Given the description of an element on the screen output the (x, y) to click on. 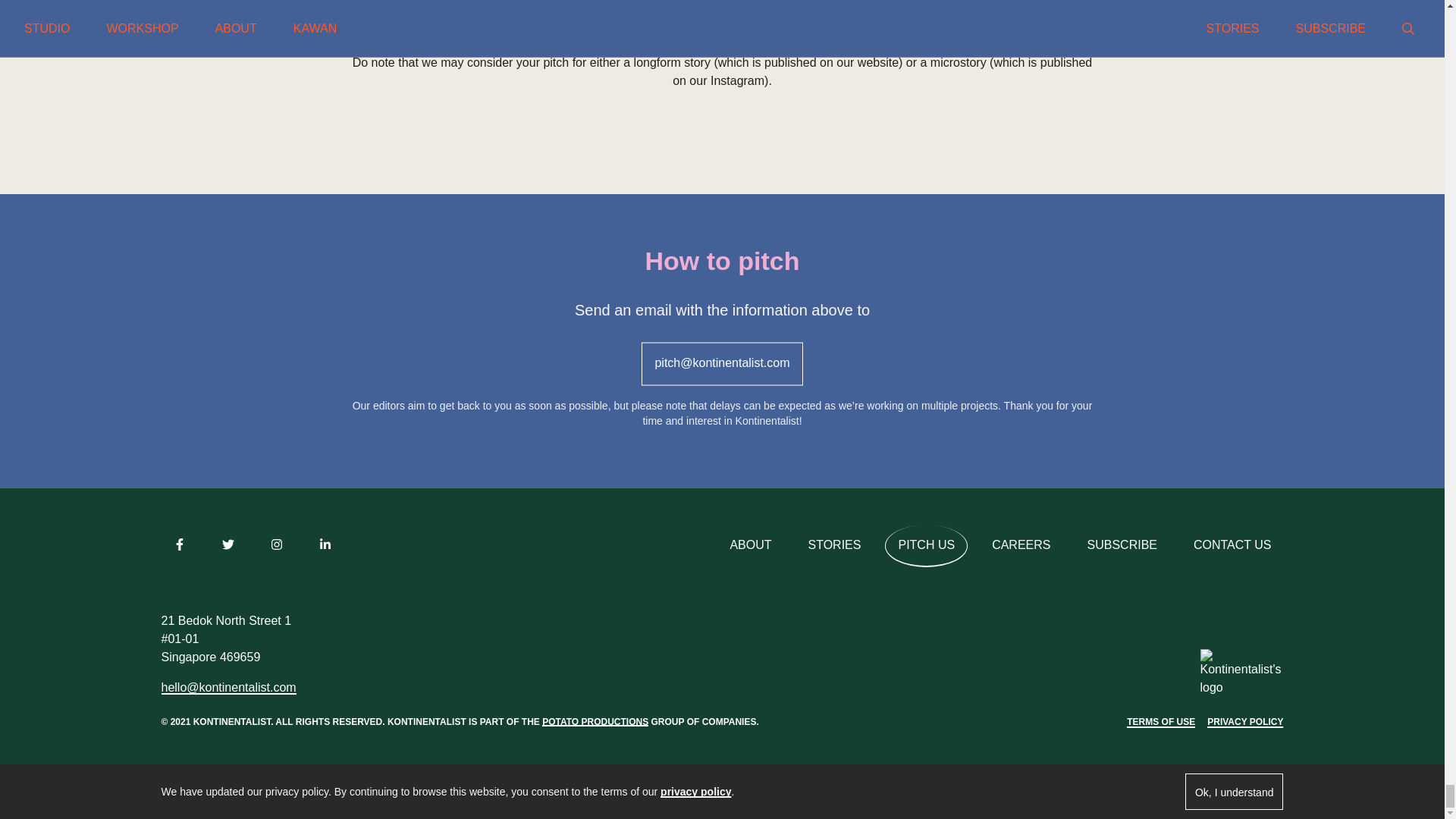
STORIES (834, 545)
TERMS OF USE (1160, 721)
POTATO PRODUCTIONS (594, 720)
PRIVACY POLICY (1244, 721)
PITCH US (926, 545)
ABOUT (750, 545)
CAREERS (1020, 545)
SUBSCRIBE (1122, 545)
CONTACT US (1232, 545)
